Given the description of an element on the screen output the (x, y) to click on. 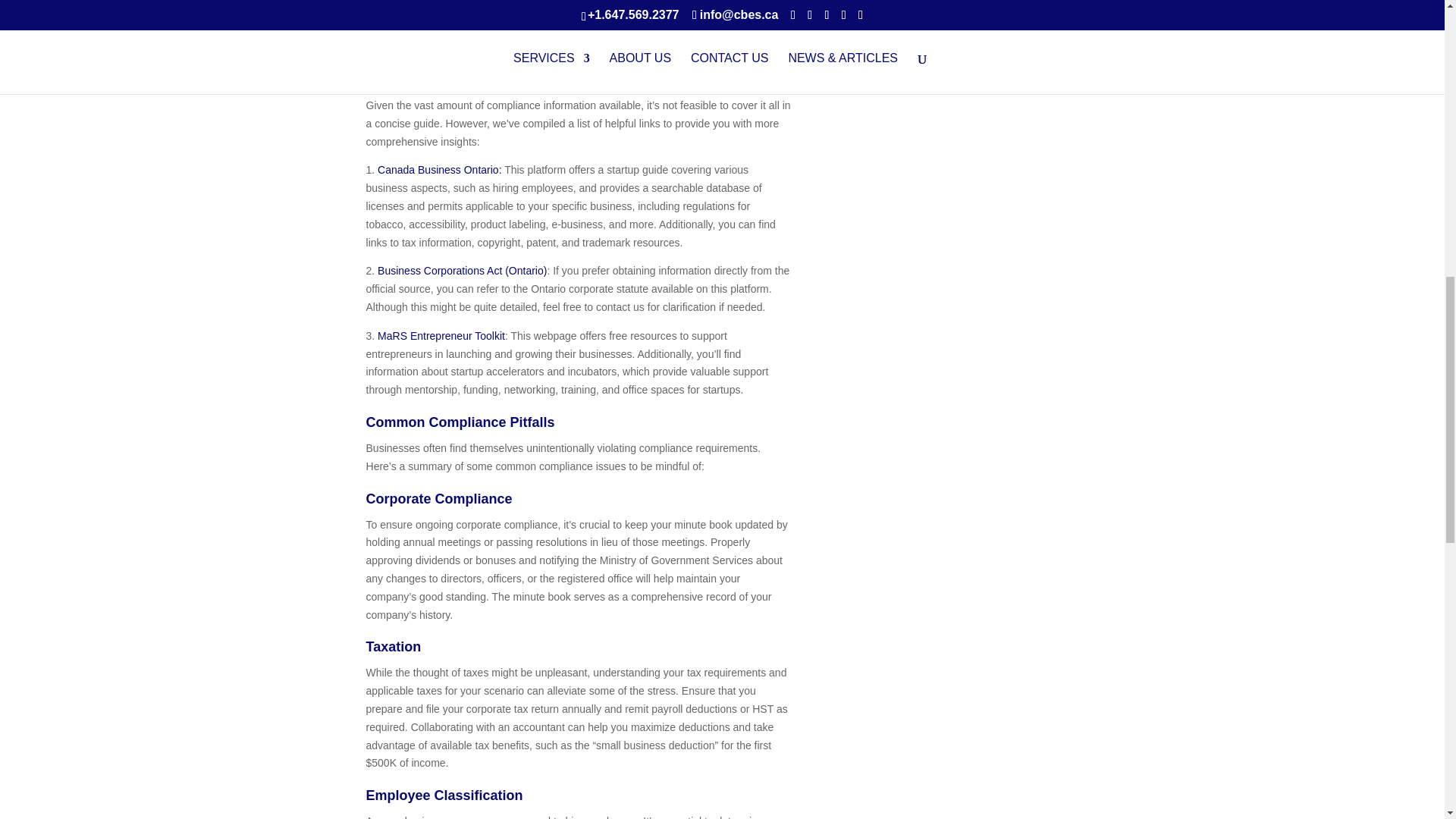
MaRS Entrepreneur Toolkit (441, 336)
Canada Business Ontario: (437, 169)
